Given the description of an element on the screen output the (x, y) to click on. 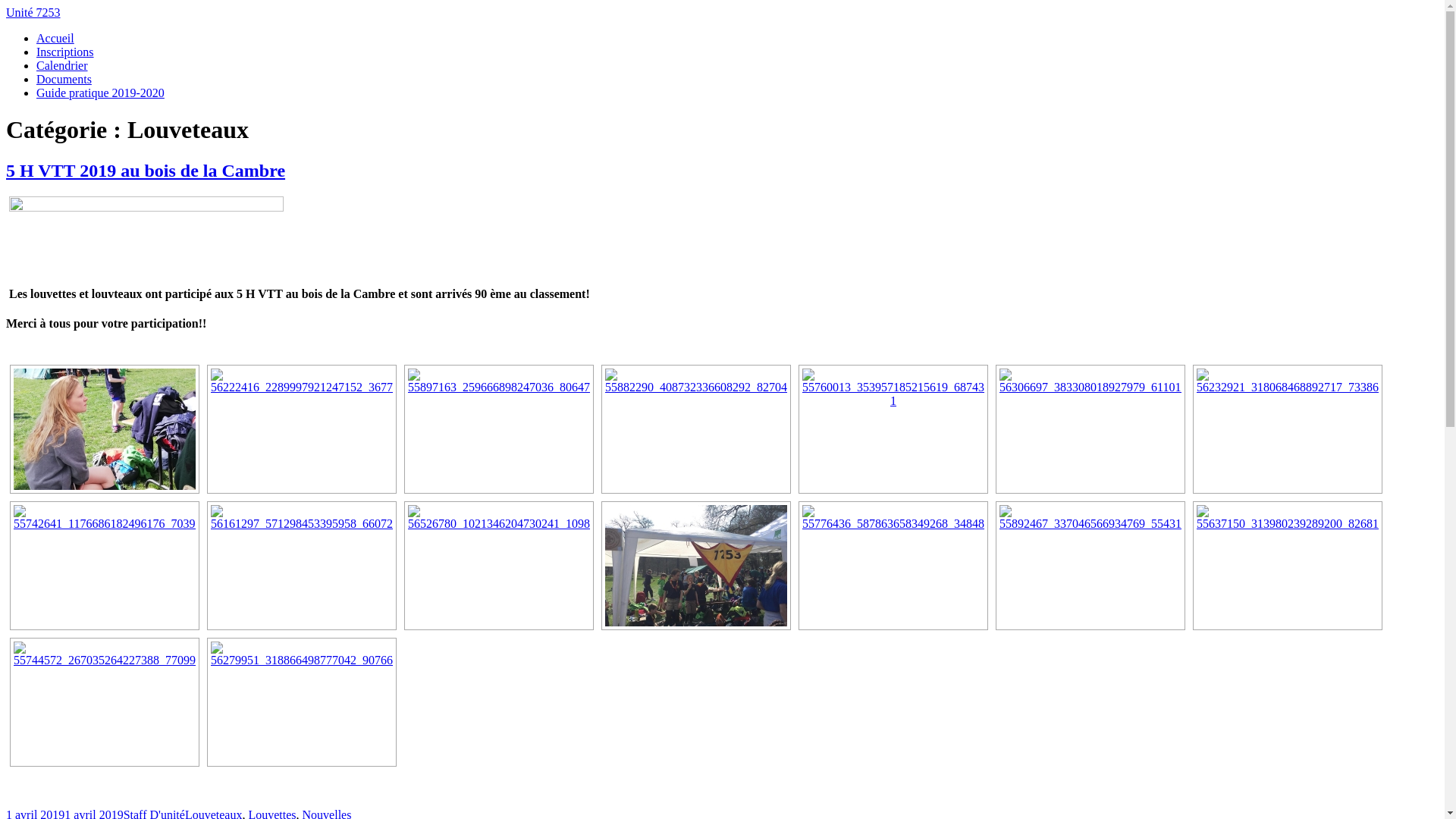
56161297_571298453395958_6607286926917500928_n Element type: hover (301, 565)
55744572_267035264227388_7709981636560945152_n Element type: hover (104, 701)
55760013_353957185215619_6874360225449639936_n-1 Element type: hover (893, 428)
Guide pratique 2019-2020 Element type: text (100, 92)
Documents Element type: text (63, 78)
55742641_1176686182496176_7039260903459520512_n Element type: hover (104, 565)
55776436_587863658349268_3484866559086690304_n Element type: hover (893, 565)
55637150_313980239289200_8268160529856462848_n Element type: hover (1287, 565)
56222416_2289997921247152_3677128820176977920_n Element type: hover (301, 428)
55882290_408732336608292_827043223254859776_n Element type: hover (696, 428)
Inscriptions Element type: text (65, 51)
Skip to content Element type: text (5, 5)
55892467_337046566934769_5543153387140284416_n Element type: hover (1090, 565)
56526780_1021346204730241_109806912005996544_n Element type: hover (498, 565)
Accueil Element type: text (55, 37)
56279951_318866498777042_9076661039264694272_n Element type: hover (301, 701)
55897163_259666898247036_8064751102056202240_n Element type: hover (498, 428)
5 H VTT 2019 au bois de la Cambre Element type: text (145, 170)
55912371_313134262703270_1656312738512633856_n Element type: hover (696, 565)
55609113_339609363566702_2533984847274180608_n Element type: hover (104, 428)
56306697_383308018927979_6110189688411127808_n Element type: hover (1090, 428)
56232921_318068468892717_7338687593631973376_n Element type: hover (1287, 428)
Calendrier Element type: text (61, 65)
